Given the description of an element on the screen output the (x, y) to click on. 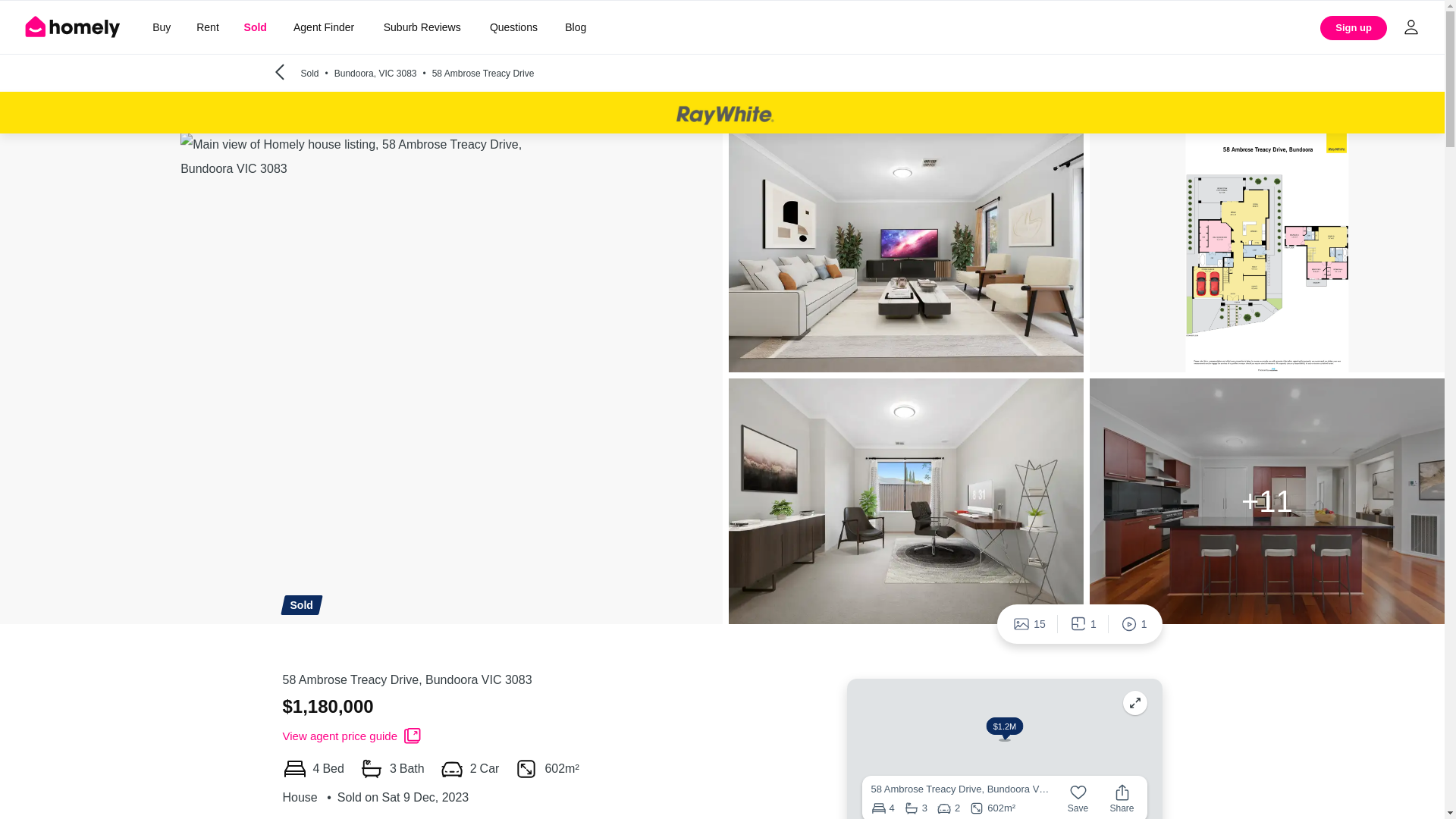
Suburb Reviews (422, 27)
1 (1133, 624)
Sold (255, 27)
Blog (575, 27)
Questions (513, 27)
Bundoora, VIC 3083 (383, 72)
Buy (161, 27)
Questions (513, 27)
Blog (575, 27)
Rent (207, 27)
